Given the description of an element on the screen output the (x, y) to click on. 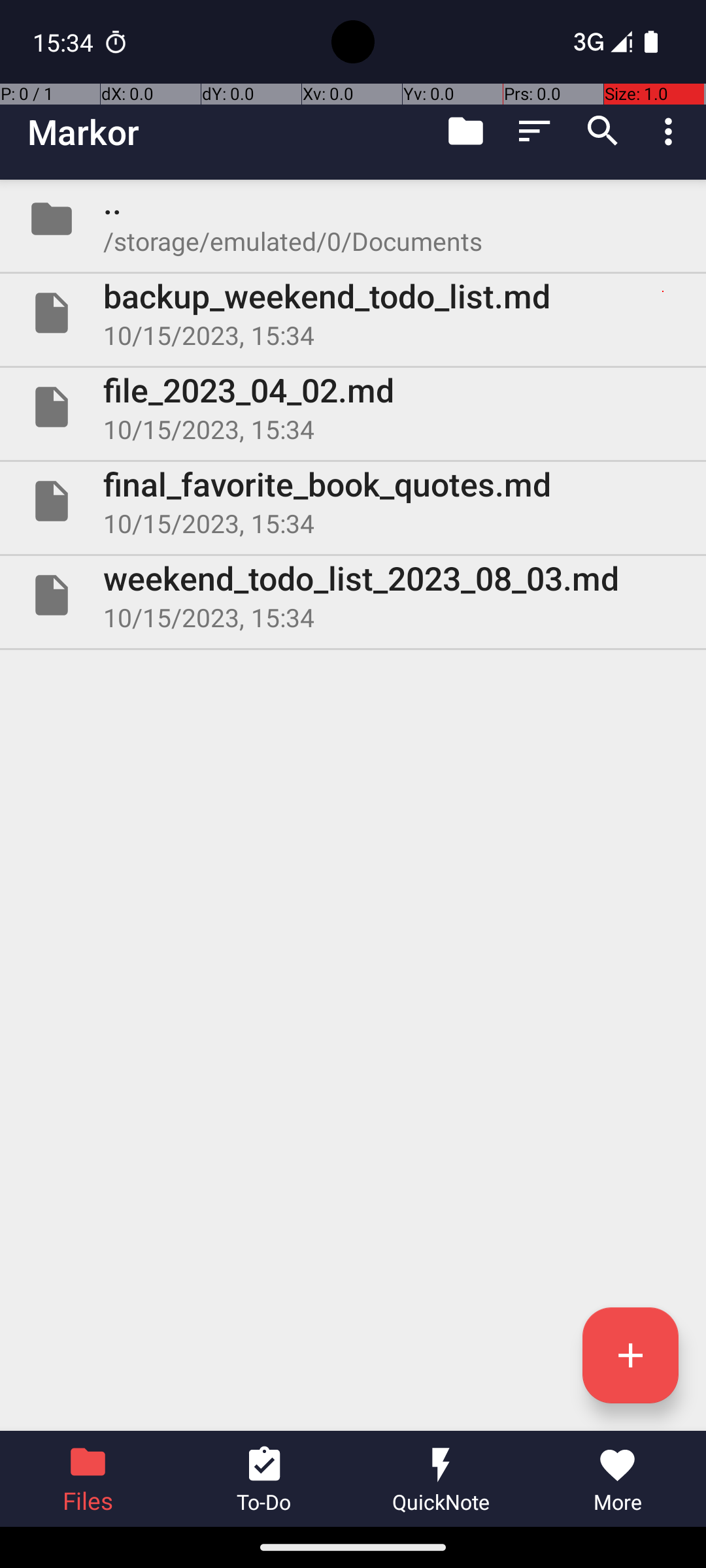
File backup_weekend_todo_list.md  Element type: android.widget.LinearLayout (353, 312)
File file_2023_04_02.md  Element type: android.widget.LinearLayout (353, 406)
File final_favorite_book_quotes.md  Element type: android.widget.LinearLayout (353, 500)
File weekend_todo_list_2023_08_03.md  Element type: android.widget.LinearLayout (353, 594)
